Given the description of an element on the screen output the (x, y) to click on. 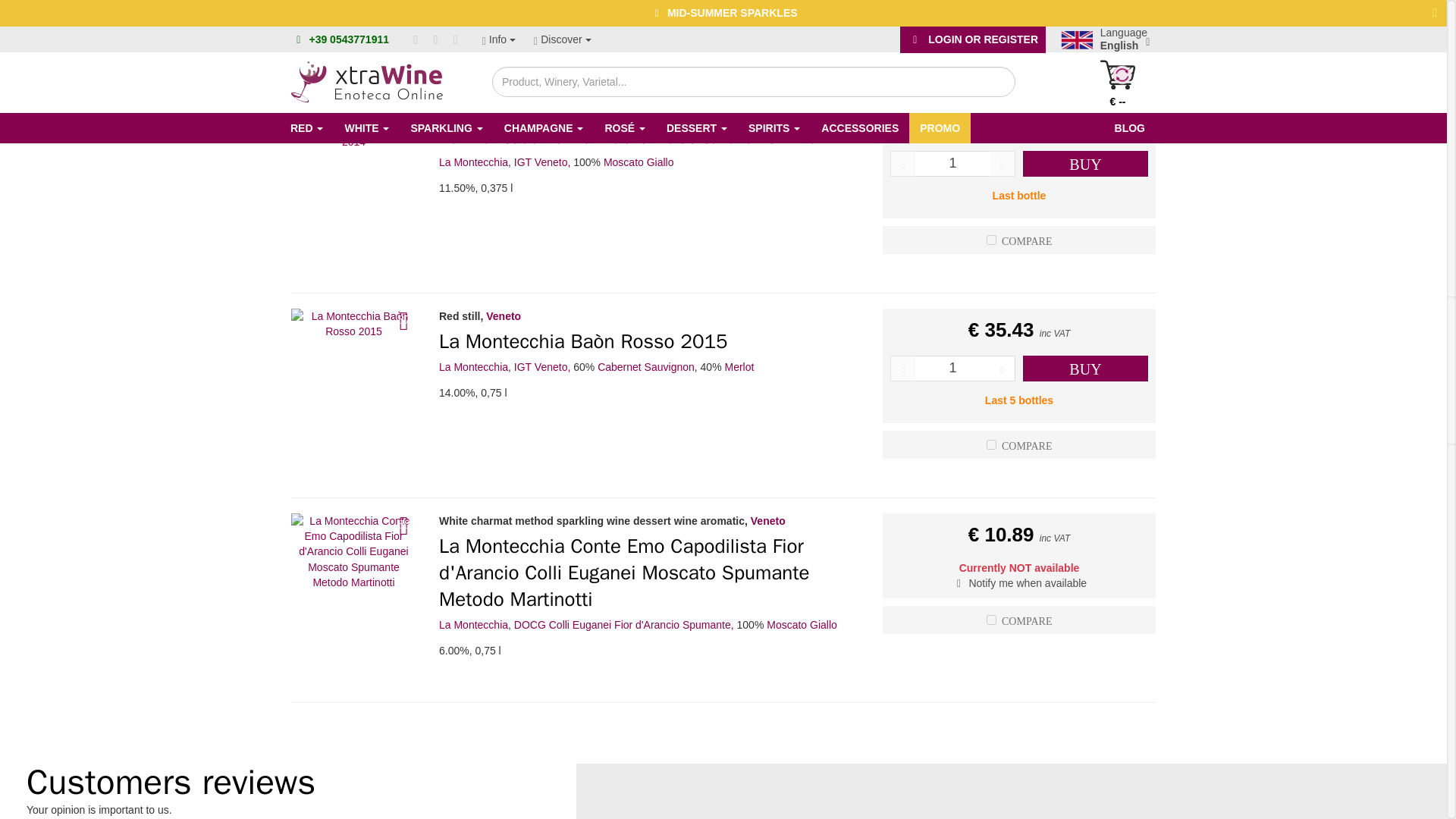
on (991, 35)
1 (952, 368)
on (991, 239)
on (991, 444)
on (991, 619)
1 (952, 163)
